Given the description of an element on the screen output the (x, y) to click on. 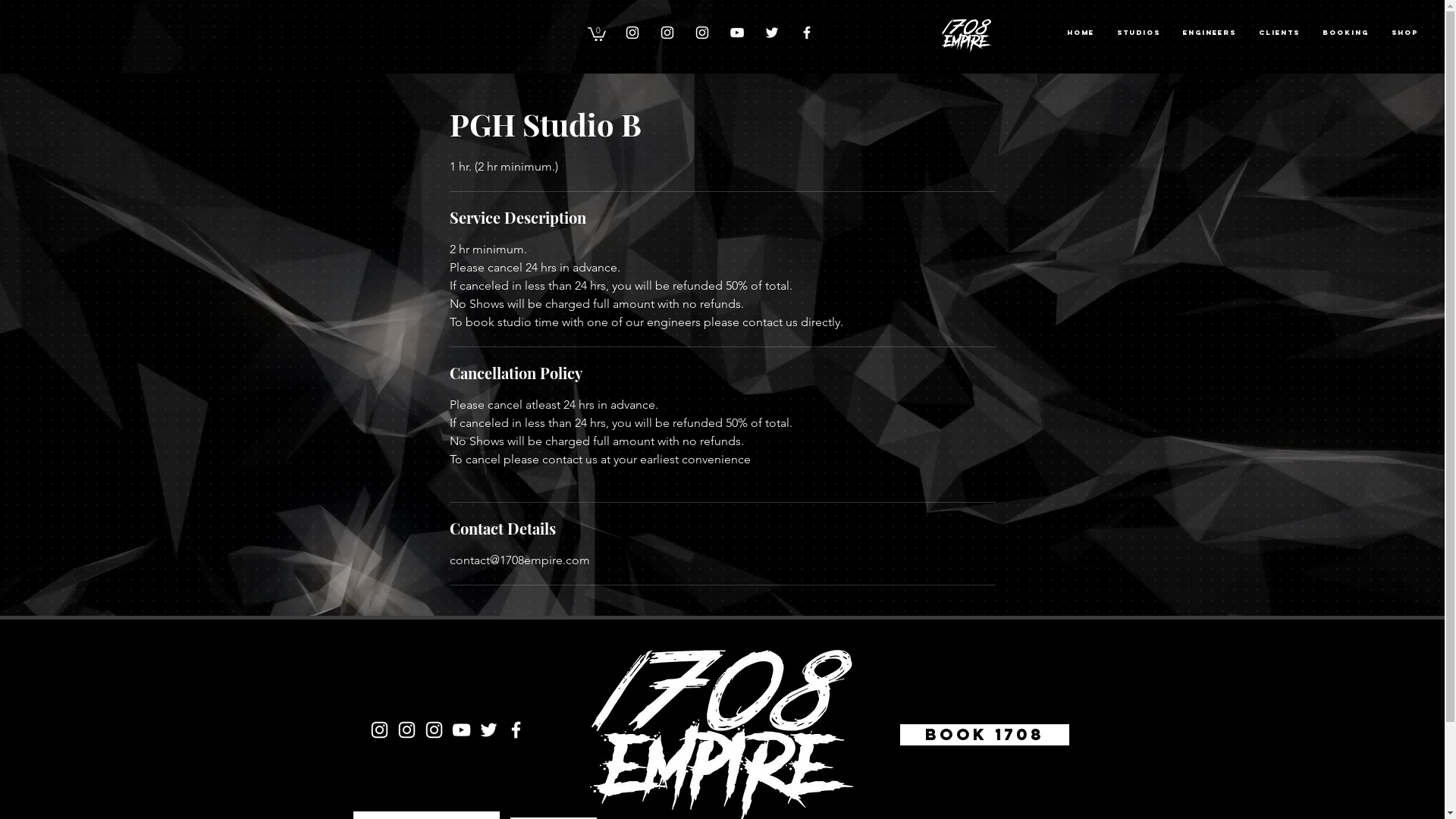
BOOKING Element type: text (1345, 32)
Home Element type: text (1080, 32)
Book 1708 Element type: text (983, 734)
STUDIOS Element type: text (1138, 32)
0 Element type: text (596, 32)
ENGINEERS Element type: text (1209, 32)
CLIENTS Element type: text (1279, 32)
Shop Element type: text (1404, 32)
